Given the description of an element on the screen output the (x, y) to click on. 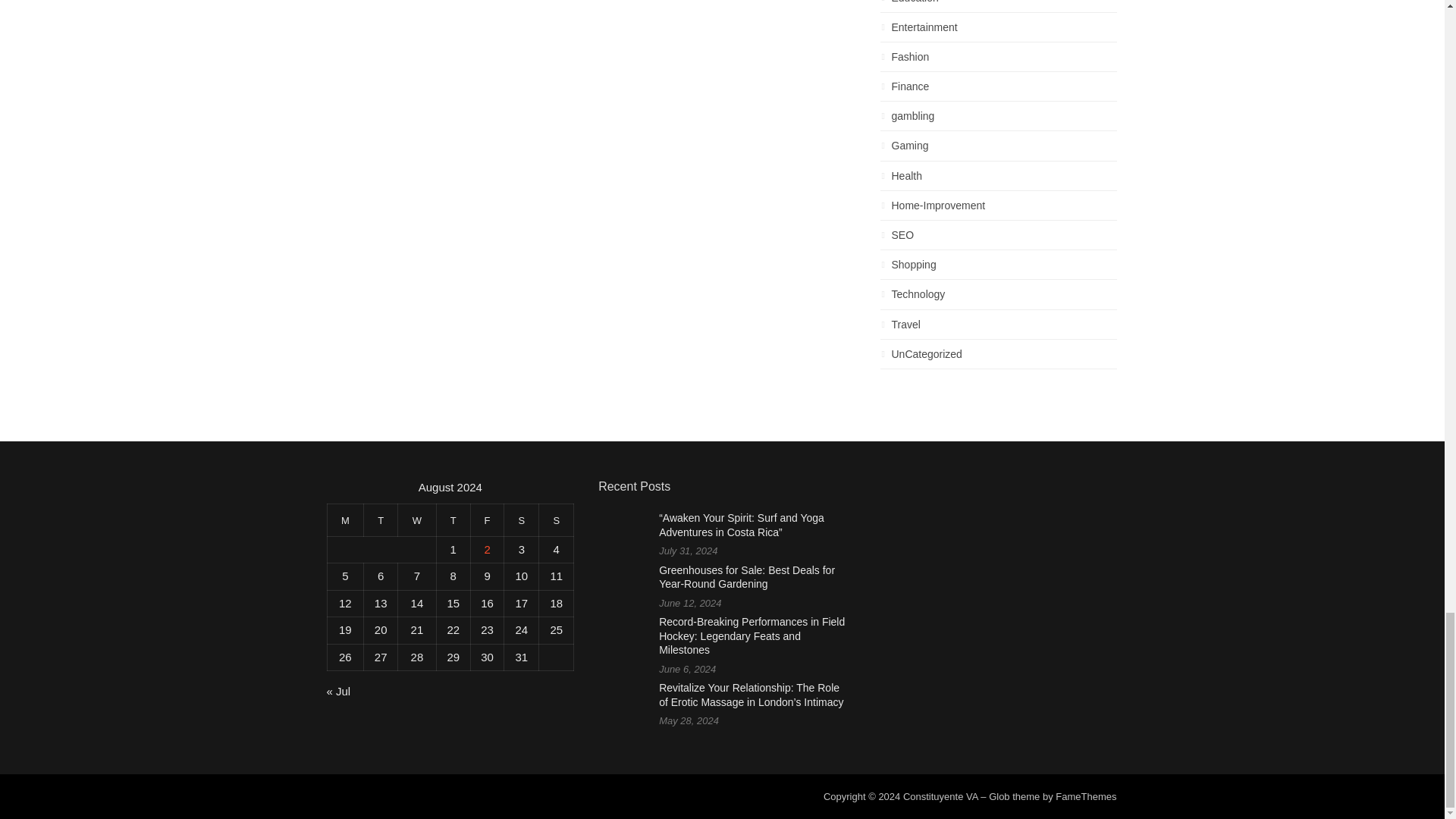
Saturday (520, 520)
Greenhouses for Sale: Best Deals for Year-Round Gardening (746, 577)
Friday (486, 520)
Sunday (555, 520)
Monday (345, 520)
Wednesday (416, 520)
Thursday (452, 520)
Tuesday (380, 520)
